Given the description of an element on the screen output the (x, y) to click on. 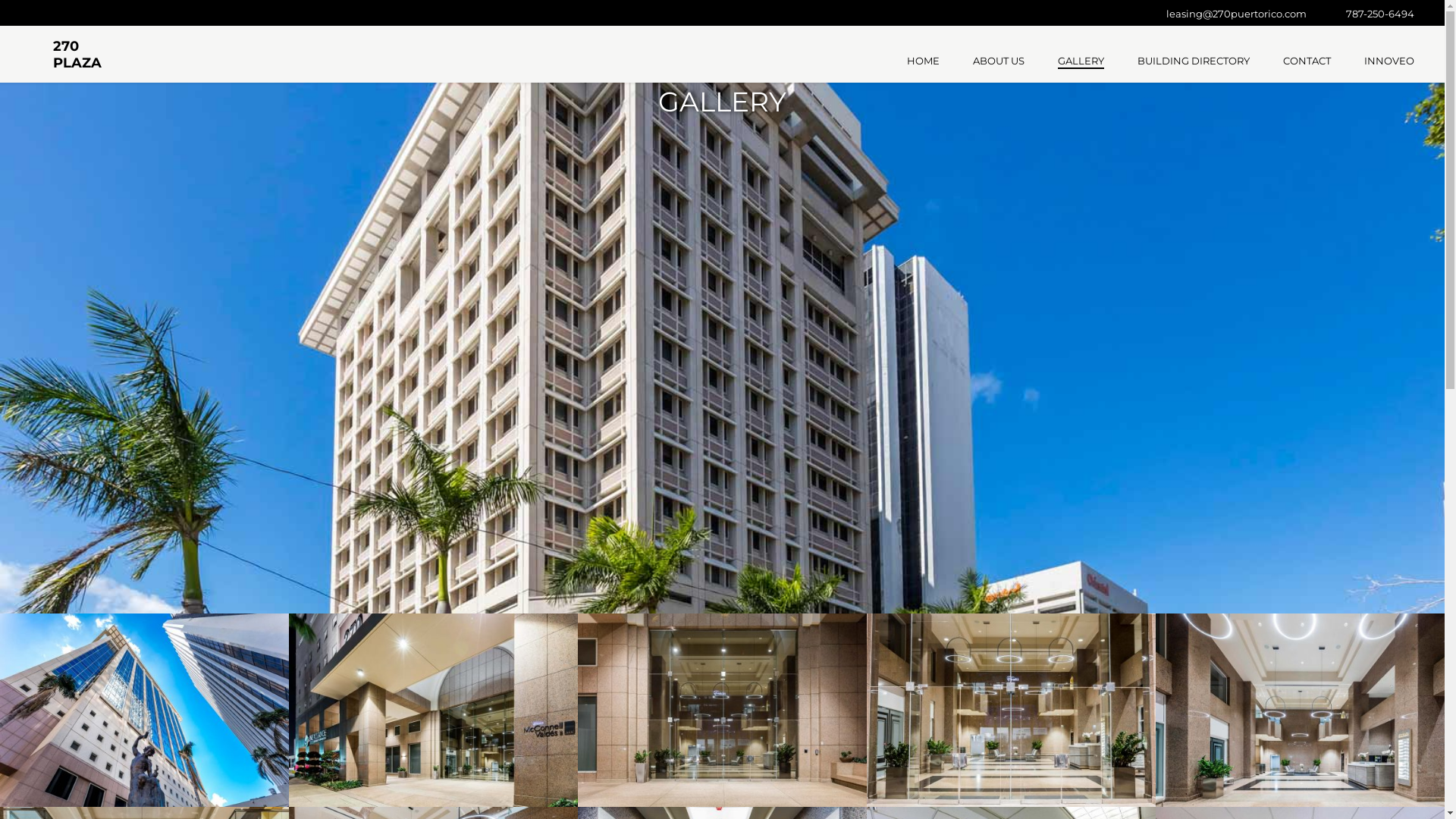
HOME Element type: text (922, 61)
BUILDING DIRECTORY Element type: text (1193, 61)
270 Exterior Entrance (2) Element type: hover (1010, 709)
Lobby Element type: hover (1299, 709)
270 Exterior Element type: hover (432, 709)
INNOVEO Element type: text (1389, 61)
270 Exteriors Element type: hover (144, 709)
270 PLAZA Element type: text (74, 45)
ABOUT US Element type: text (998, 61)
270 Exterior Entrance Element type: hover (721, 709)
leasing@270puertorico.com Element type: text (1236, 13)
787-250-6494 Element type: text (1380, 13)
GALLERY Element type: text (1080, 61)
CONTACT Element type: text (1306, 61)
